Given the description of an element on the screen output the (x, y) to click on. 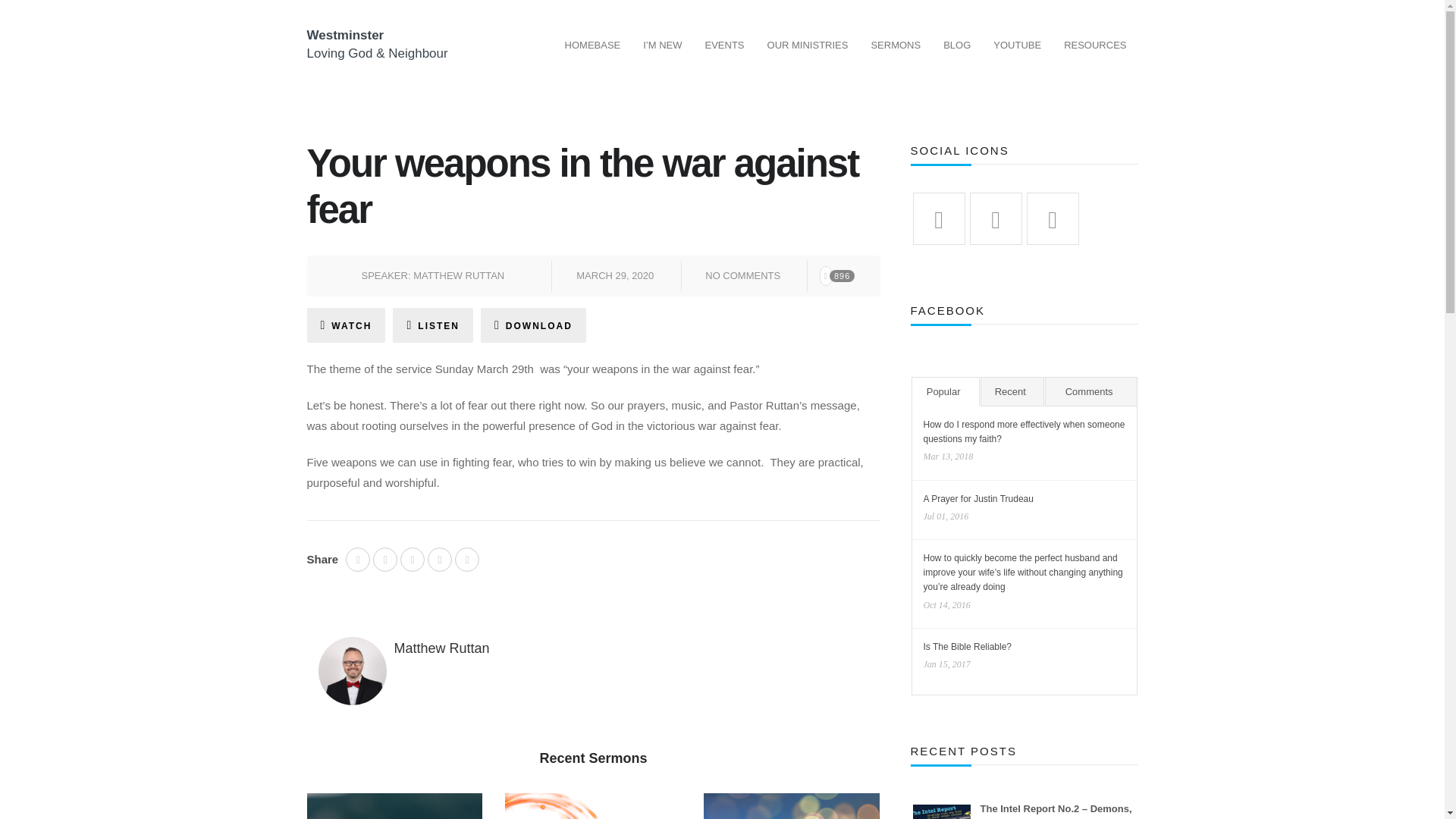
BLOG (956, 45)
HOMEBASE (592, 45)
YOUTUBE (1016, 45)
SERMONS (895, 45)
RESOURCES (1094, 45)
OUR MINISTRIES (807, 45)
Westminster (344, 34)
EVENTS (724, 45)
